Given the description of an element on the screen output the (x, y) to click on. 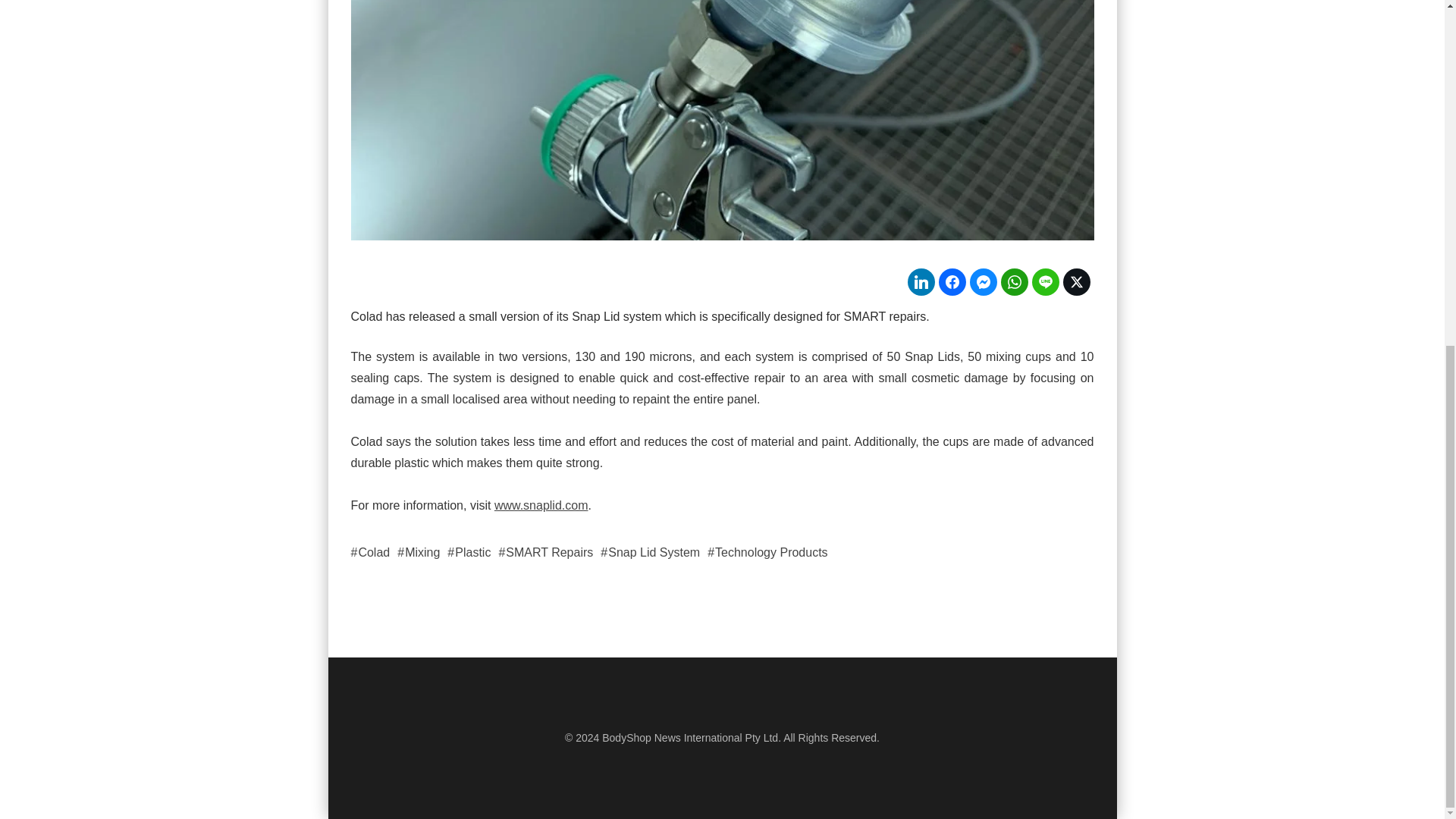
Share on WhatsApp (1014, 281)
Share on Facebook (952, 281)
Share on LinkedIn (920, 281)
Share on Twitter (1076, 281)
Share on Line (1044, 281)
Share on Facebook Messenger (982, 281)
